Given the description of an element on the screen output the (x, y) to click on. 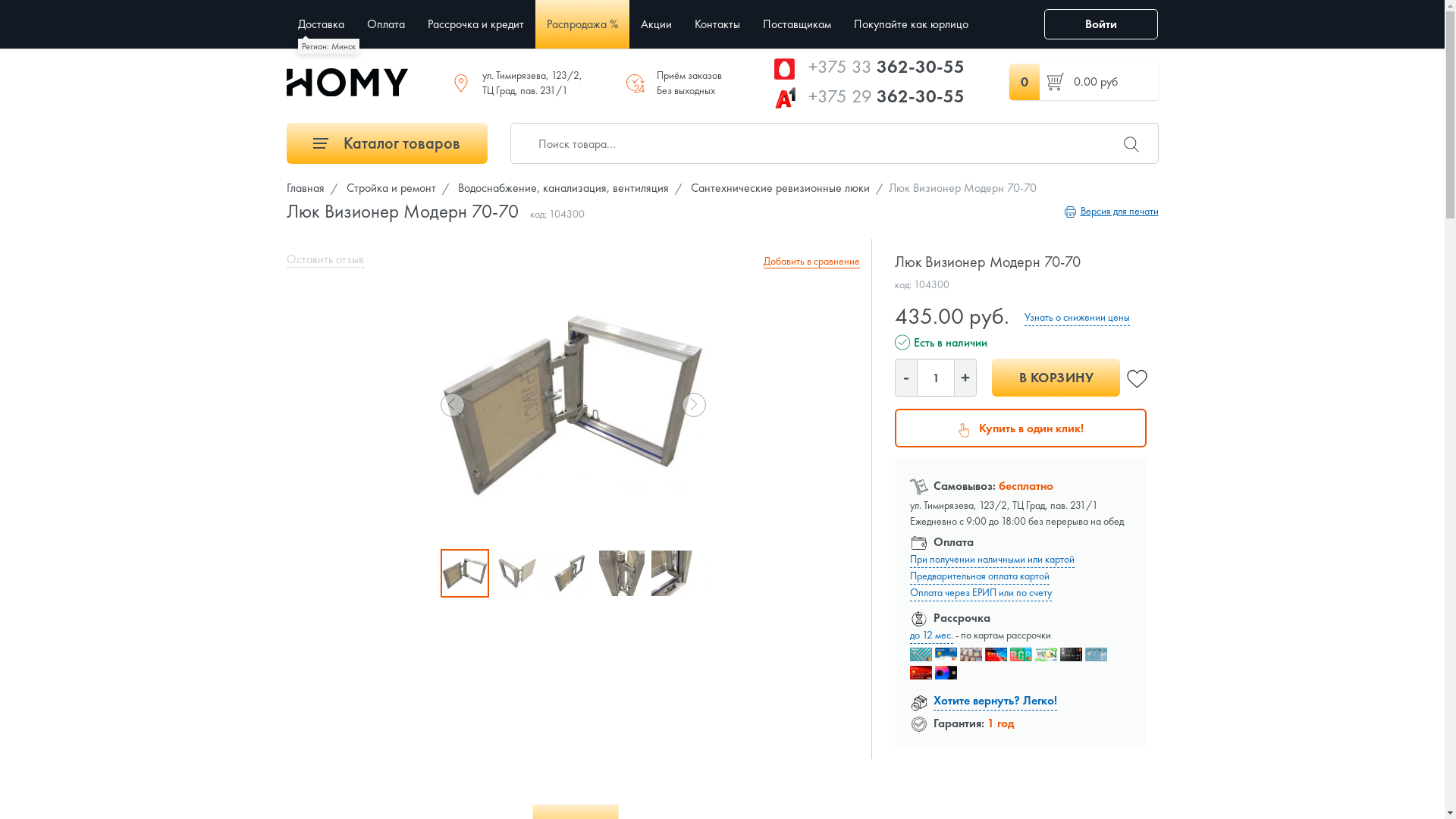
+375 29 362-30-55 Element type: text (886, 95)
+ Element type: text (964, 377)
+375 33 362-30-55 Element type: text (886, 66)
- Element type: text (905, 377)
